Given the description of an element on the screen output the (x, y) to click on. 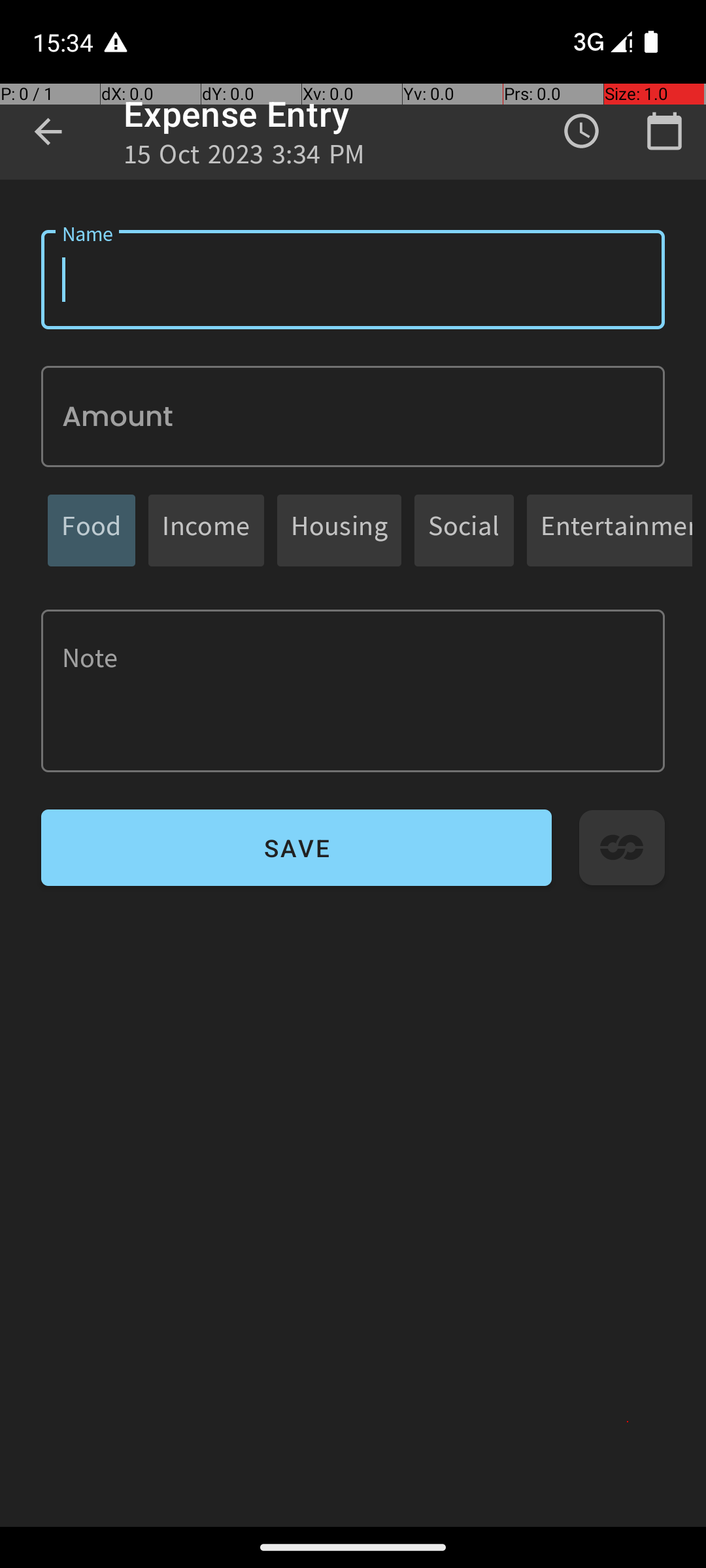
Expense Entry Element type: android.widget.TextView (236, 113)
15 Oct 2023 3:34 PM Element type: android.widget.TextView (244, 157)
Name Element type: android.widget.EditText (352, 279)
SAVE Element type: android.widget.Button (296, 847)
